Given the description of an element on the screen output the (x, y) to click on. 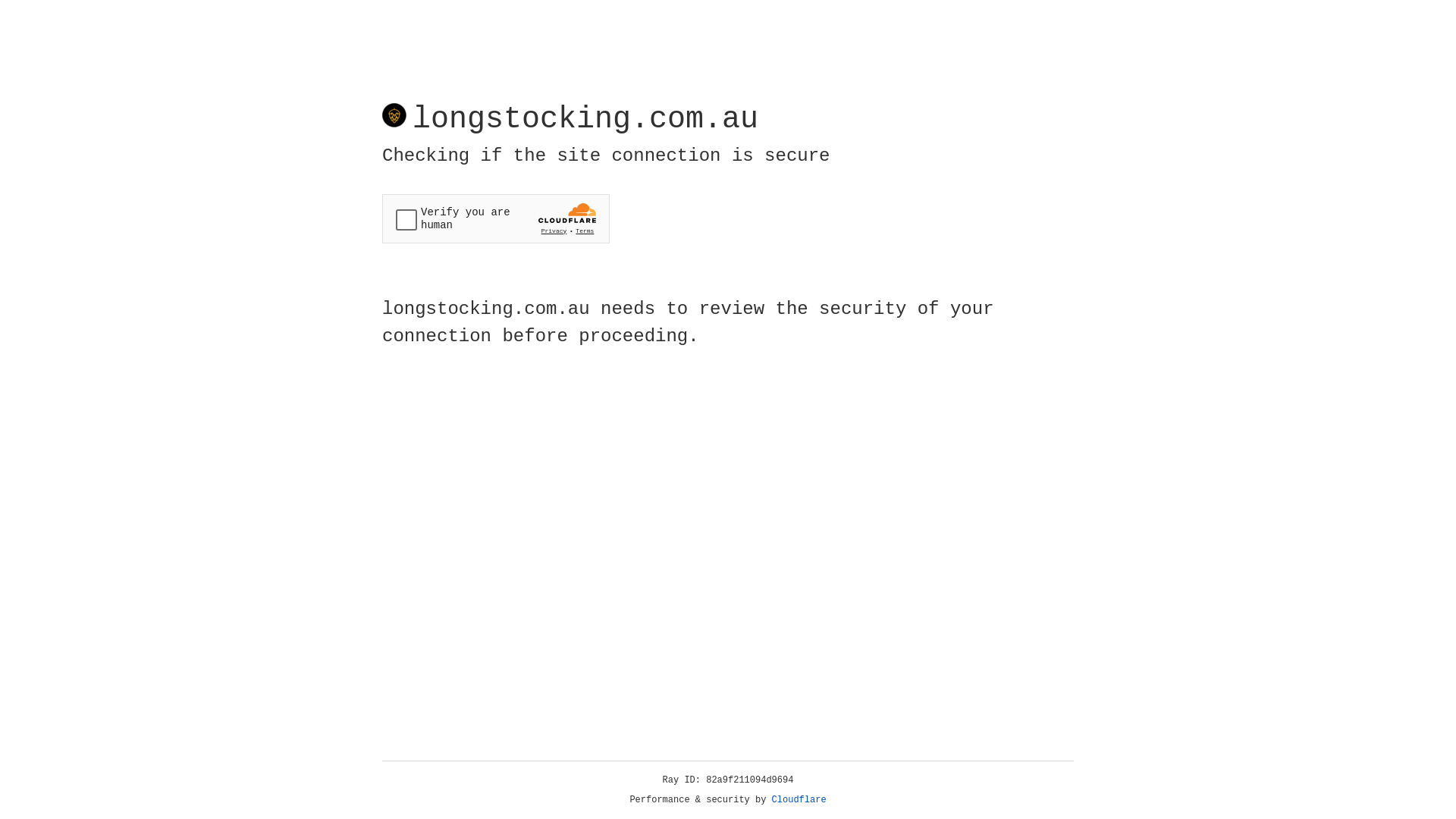
Cloudflare Element type: text (798, 799)
Widget containing a Cloudflare security challenge Element type: hover (495, 218)
